Given the description of an element on the screen output the (x, y) to click on. 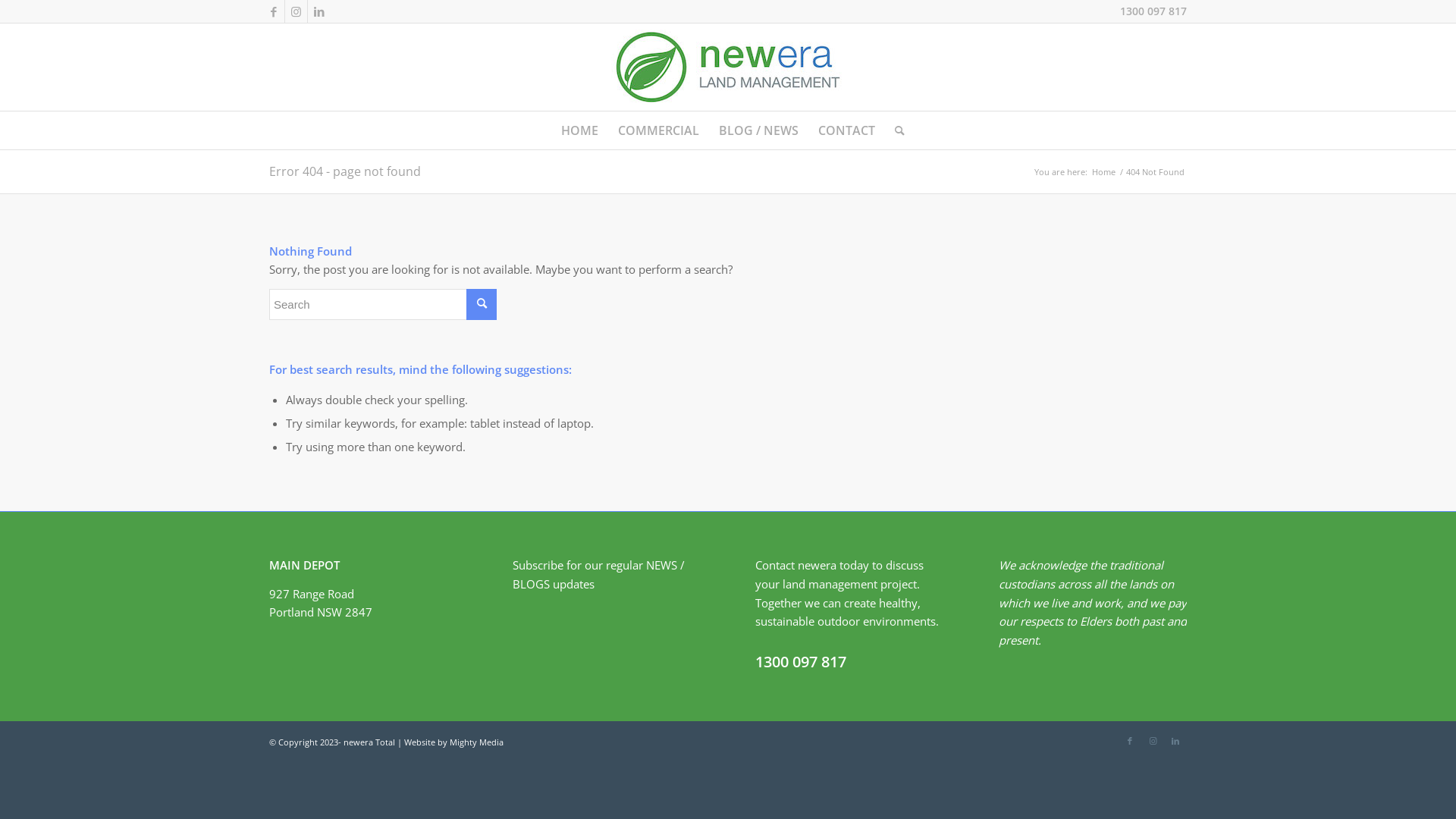
newera-green-blue-logo-with-tag Element type: hover (727, 66)
Mighty Media Element type: text (476, 741)
Facebook Element type: hover (273, 11)
COMMERCIAL Element type: text (658, 130)
Instagram Element type: hover (296, 11)
Home Element type: text (1103, 171)
LinkedIn Element type: hover (318, 11)
NEWS / BLOGS Element type: text (598, 574)
CONTACT Element type: text (846, 130)
HOME Element type: text (579, 130)
Instagram Element type: hover (1152, 740)
LinkedIn Element type: hover (1175, 740)
Facebook Element type: hover (1129, 740)
BLOG / NEWS Element type: text (758, 130)
